Given the description of an element on the screen output the (x, y) to click on. 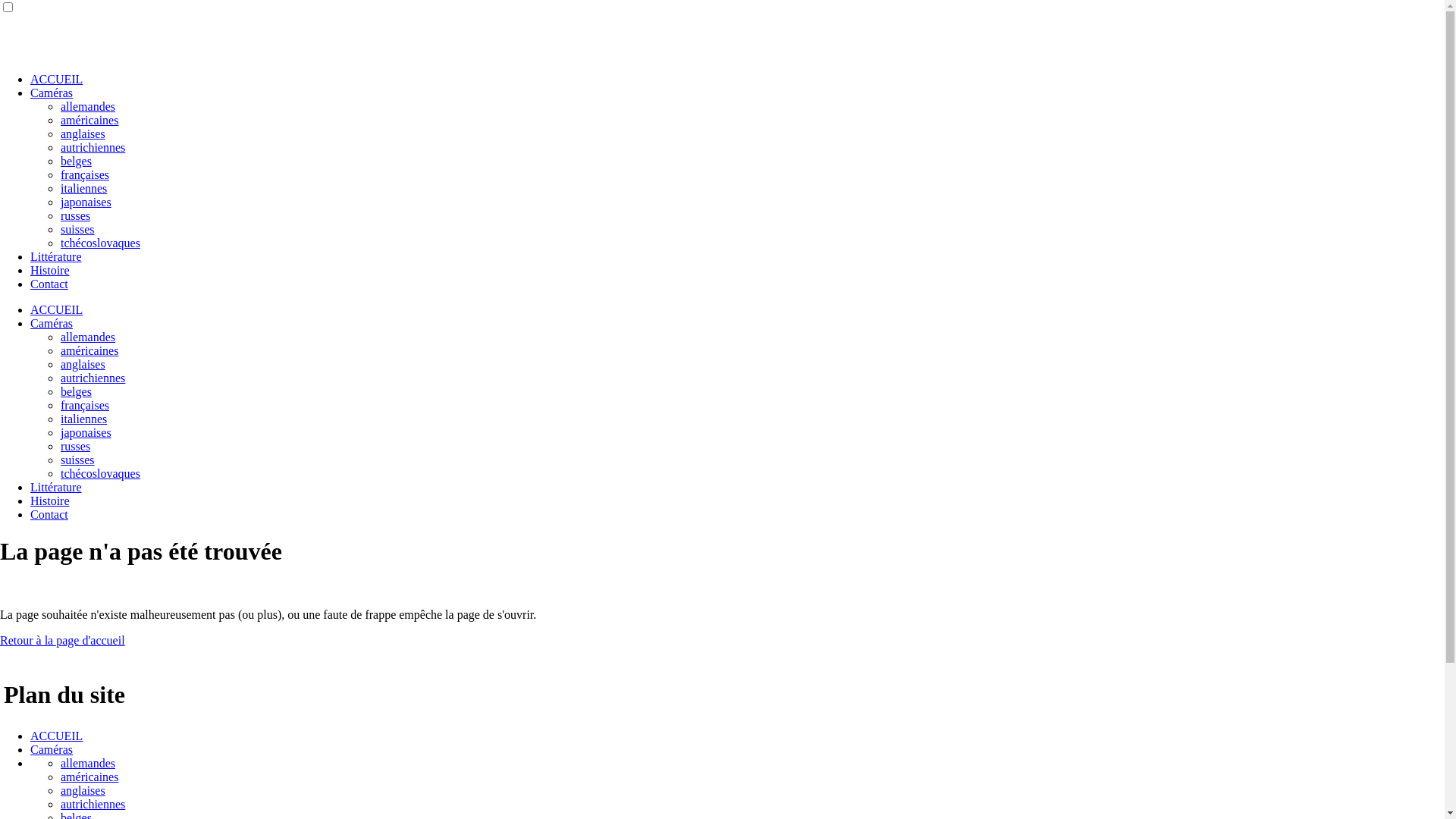
allemandes Element type: text (87, 762)
suisses Element type: text (77, 459)
russes Element type: text (75, 445)
ACCUEIL Element type: text (56, 78)
autrichiennes Element type: text (92, 803)
italiennes Element type: text (83, 418)
suisses Element type: text (77, 228)
belges Element type: text (75, 160)
japonaises Element type: text (85, 432)
russes Element type: text (75, 215)
autrichiennes Element type: text (92, 377)
anglaises Element type: text (82, 133)
ACCUEIL Element type: text (56, 309)
anglaises Element type: text (82, 363)
allemandes Element type: text (87, 336)
belges Element type: text (75, 391)
ACCUEIL Element type: text (56, 735)
allemandes Element type: text (87, 106)
autrichiennes Element type: text (92, 147)
anglaises Element type: text (82, 790)
italiennes Element type: text (83, 188)
Histoire Element type: text (49, 269)
Contact Element type: text (49, 514)
Contact Element type: text (49, 283)
japonaises Element type: text (85, 201)
Histoire Element type: text (49, 500)
